Given the description of an element on the screen output the (x, y) to click on. 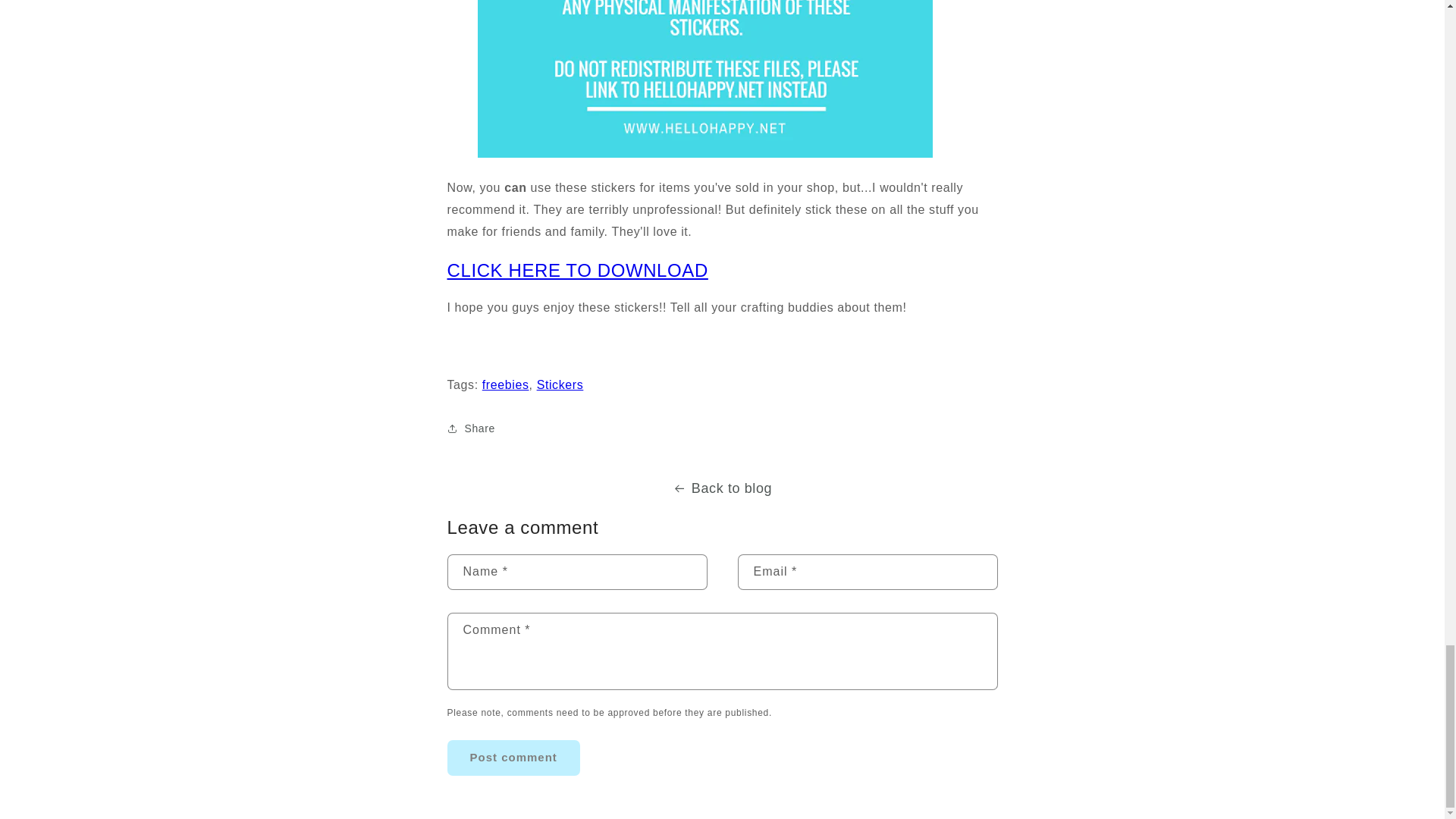
Post comment (512, 757)
